Given the description of an element on the screen output the (x, y) to click on. 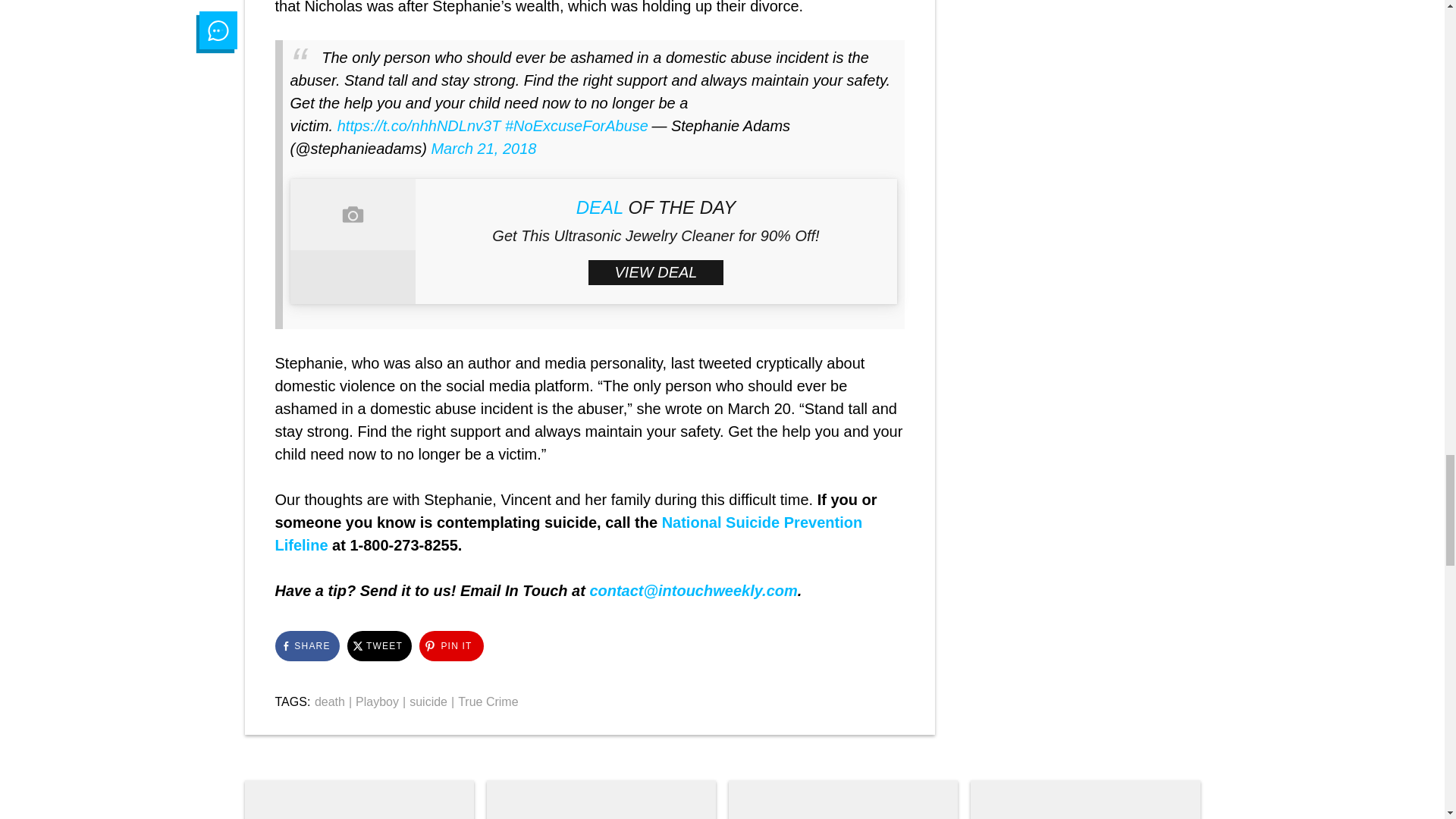
Click to share on Twitter (379, 645)
Click to share on Pinterest (451, 645)
Click to share on Facebook (307, 645)
